Given the description of an element on the screen output the (x, y) to click on. 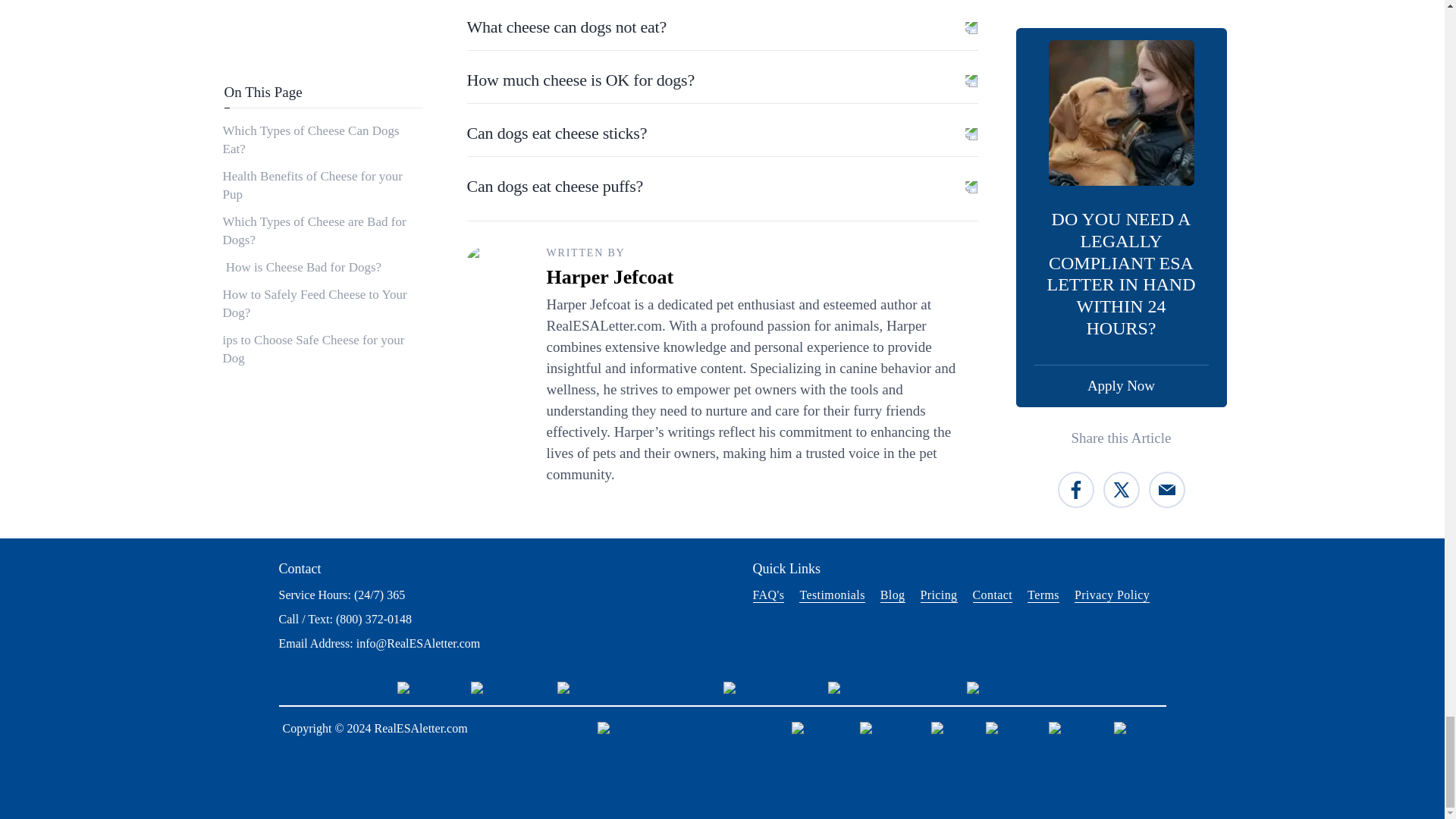
DMCA.com Protection Status (628, 687)
SiteLock (422, 687)
